Given the description of an element on the screen output the (x, y) to click on. 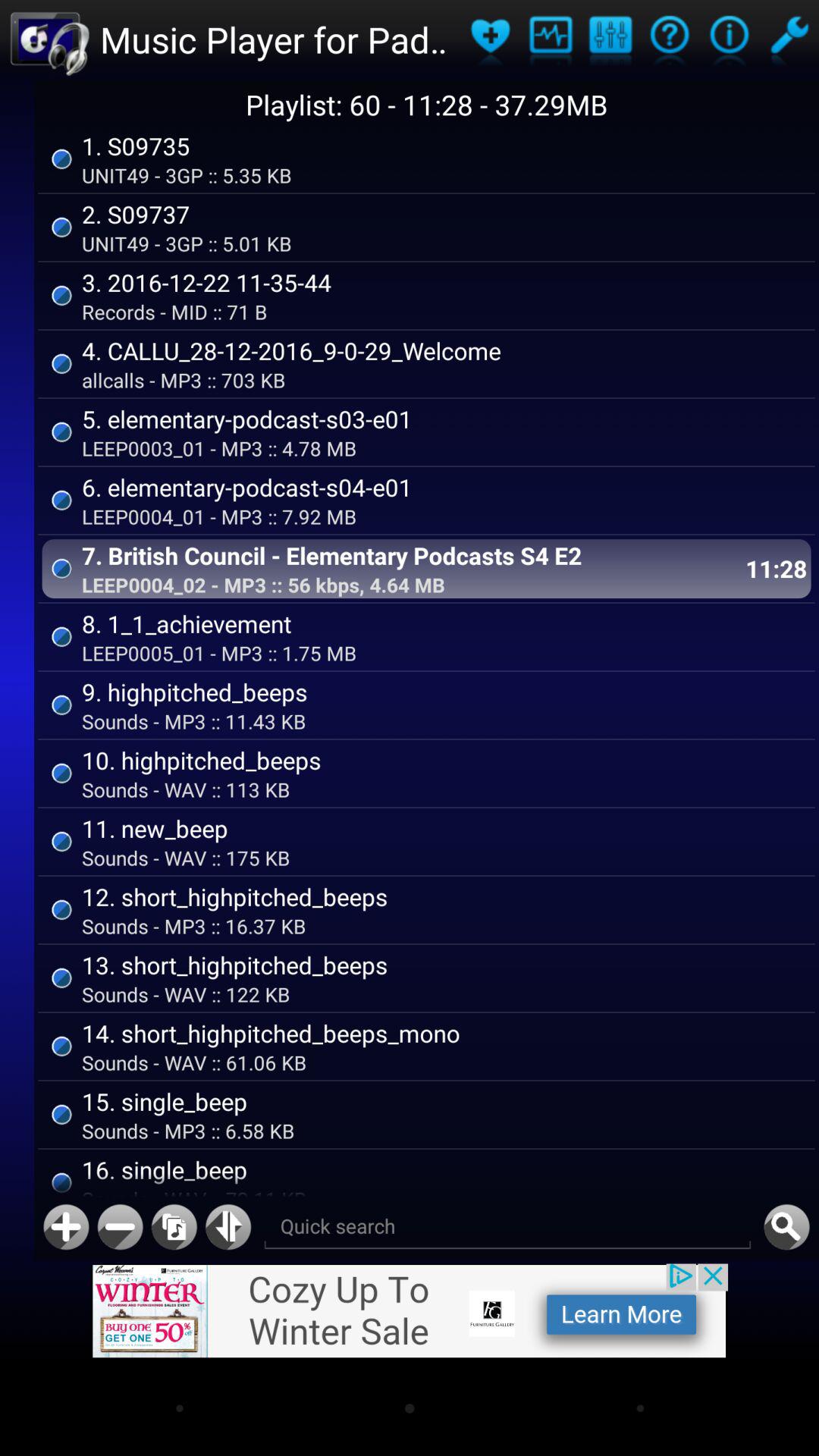
open a playlist (789, 39)
